Given the description of an element on the screen output the (x, y) to click on. 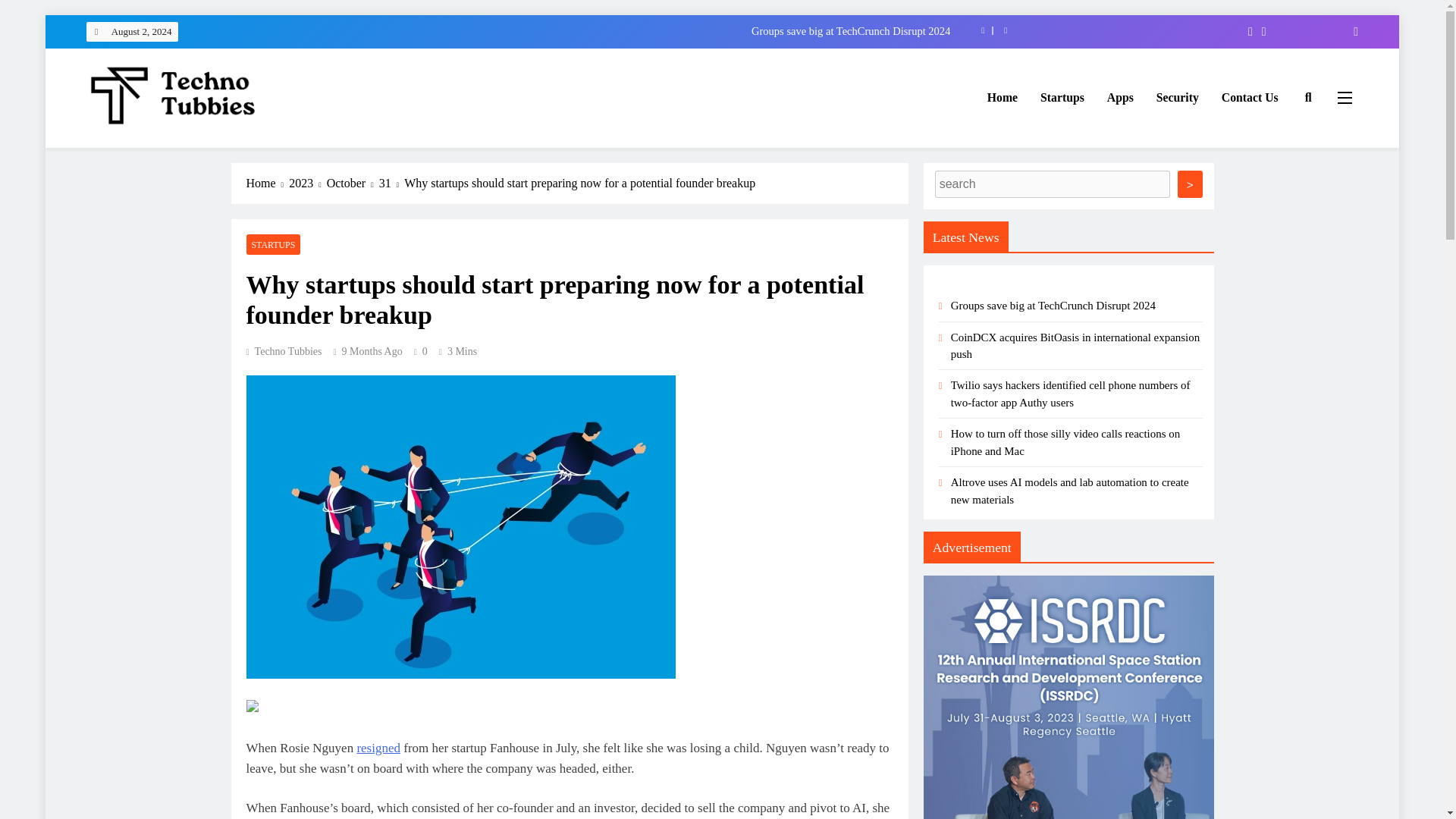
Home (1002, 96)
Startups (1062, 96)
Groups save big at TechCrunch Disrupt 2024 (645, 30)
9 Months Ago (372, 351)
Techno Tubbies (142, 150)
2023 (307, 183)
Techno Tubbies (283, 351)
Home (267, 183)
Groups save big at TechCrunch Disrupt 2024 (645, 30)
31 (391, 183)
Apps (1120, 96)
October (352, 183)
STARTUPS (272, 243)
resigned (378, 747)
Contact Us (1249, 96)
